Given the description of an element on the screen output the (x, y) to click on. 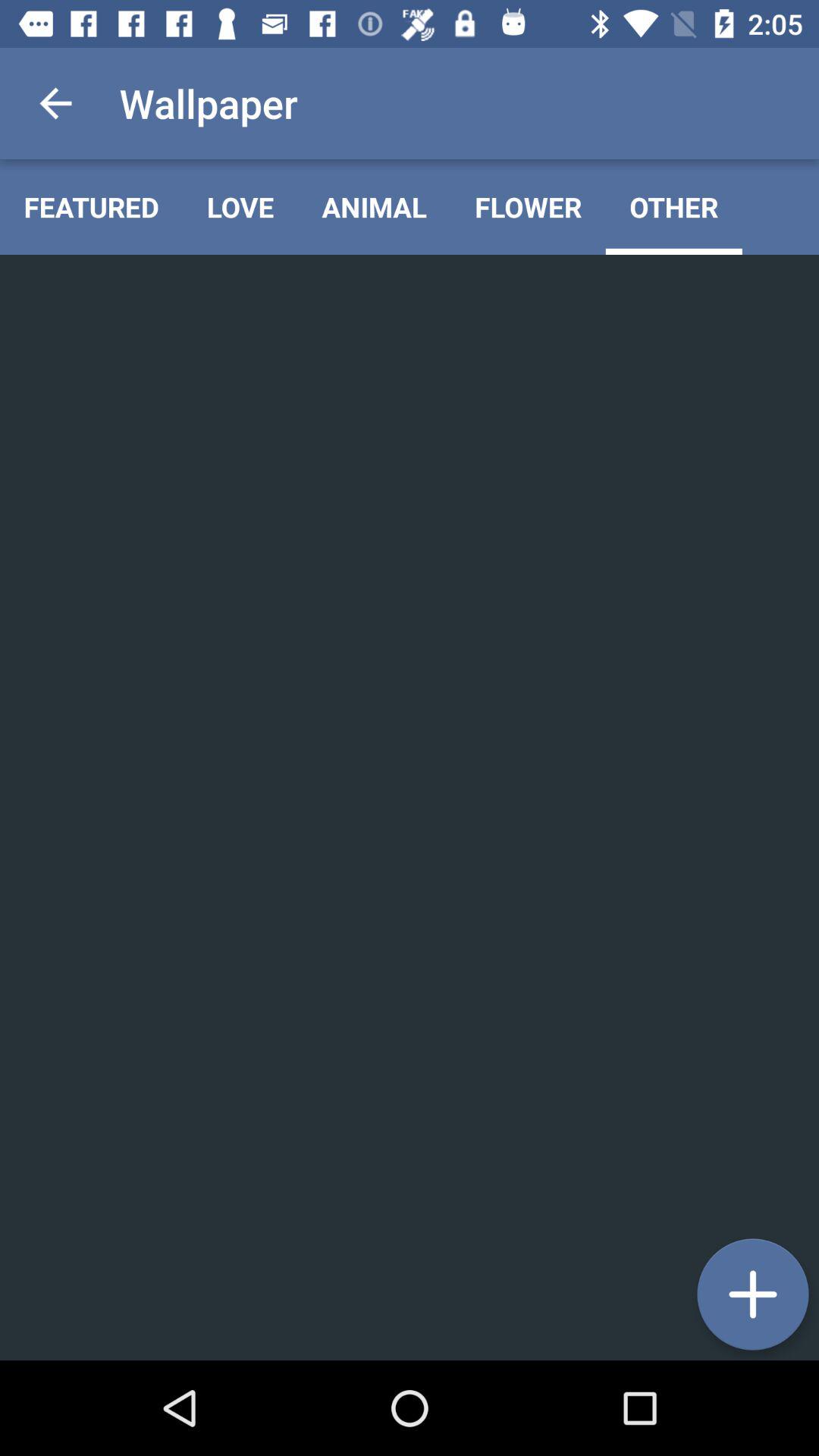
turn on the app below the wallpaper (240, 206)
